Given the description of an element on the screen output the (x, y) to click on. 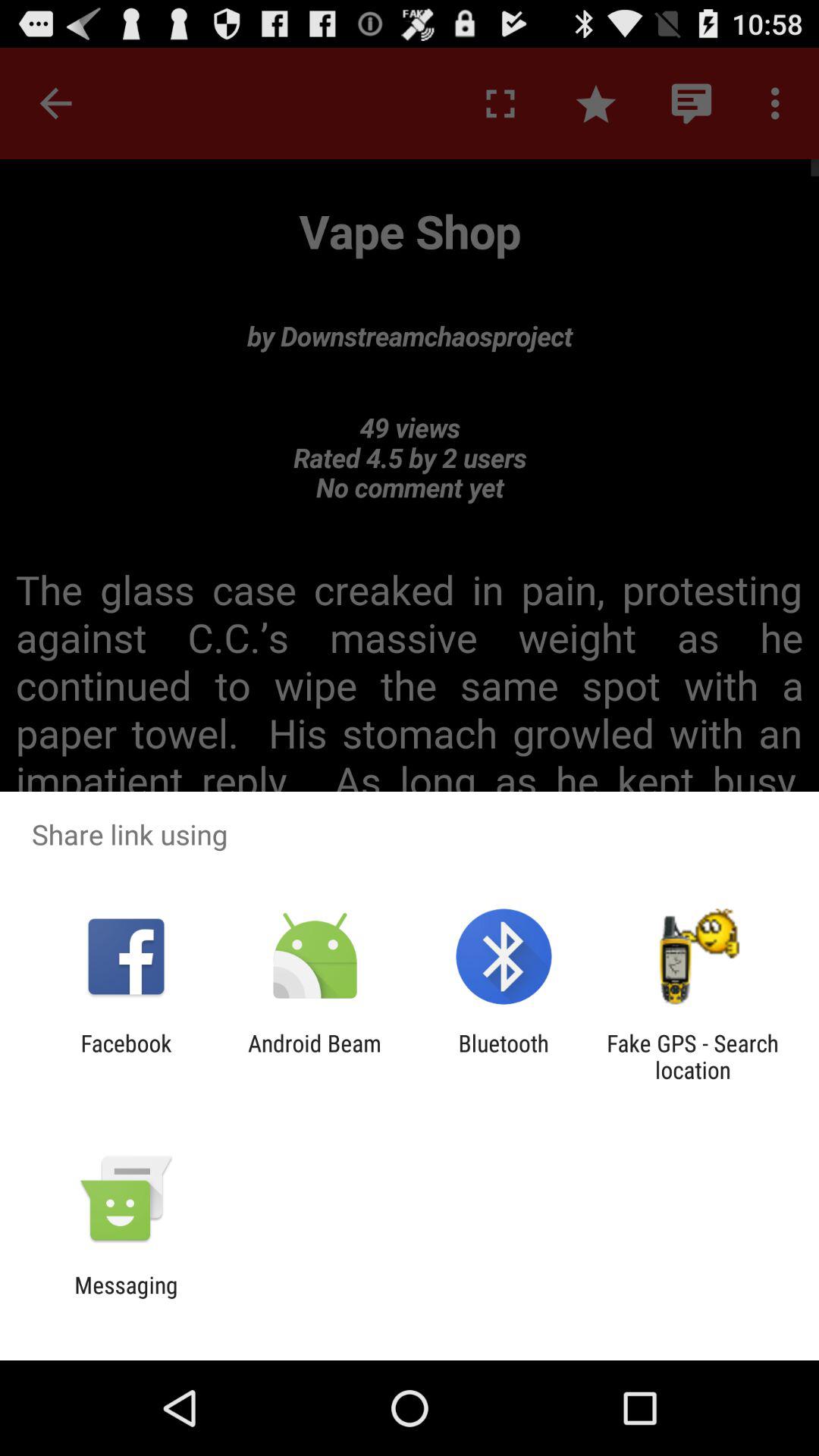
open the android beam (314, 1056)
